Given the description of an element on the screen output the (x, y) to click on. 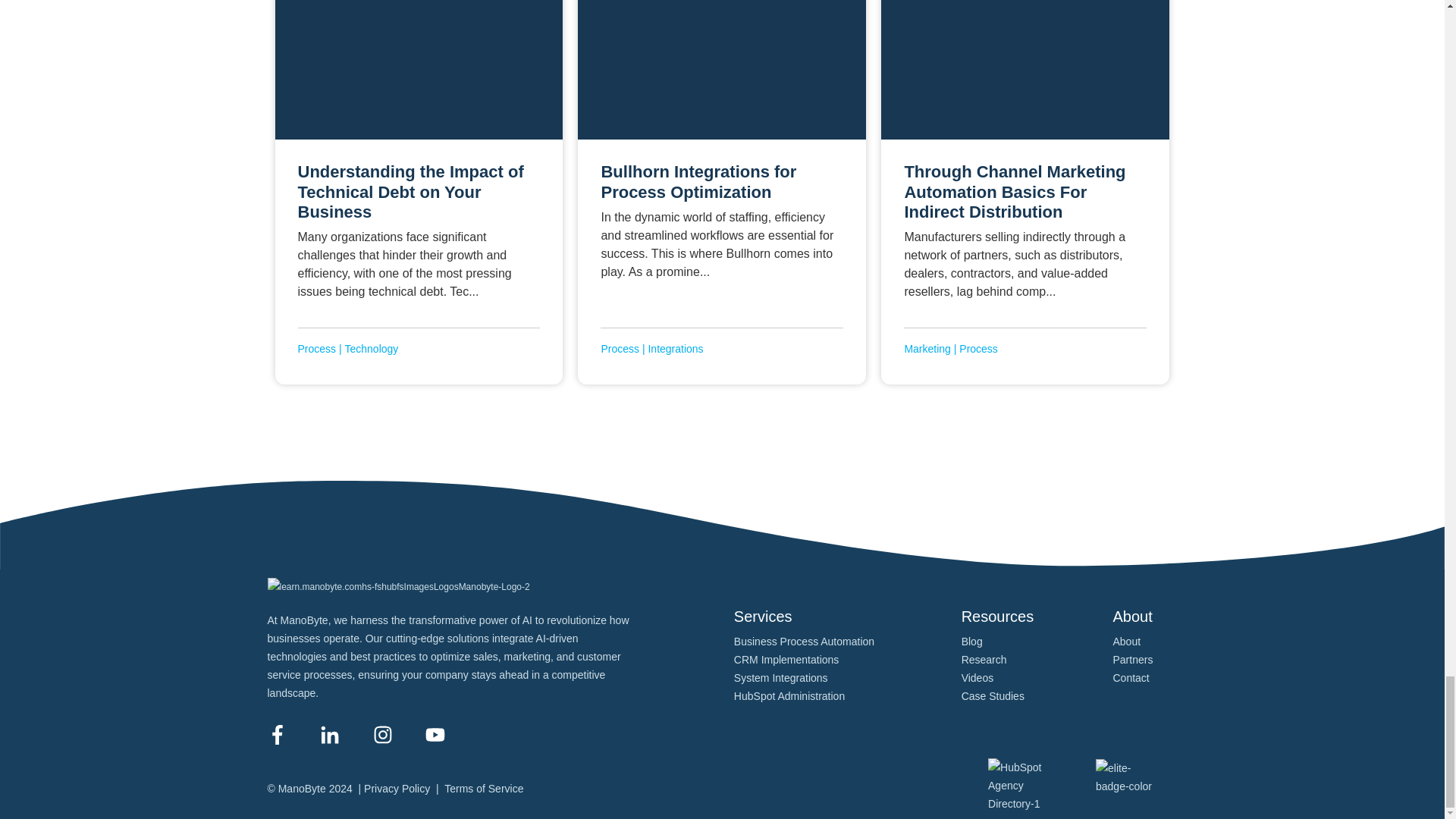
Follow us on Facebook (276, 734)
Follow us on Youtube (435, 734)
Follow us on Instagram (382, 734)
Follow us on LinkedIn (329, 734)
learn.manobyte.comhs-fshubfsImagesLogosManobyte-Logo-2 (397, 587)
